Given the description of an element on the screen output the (x, y) to click on. 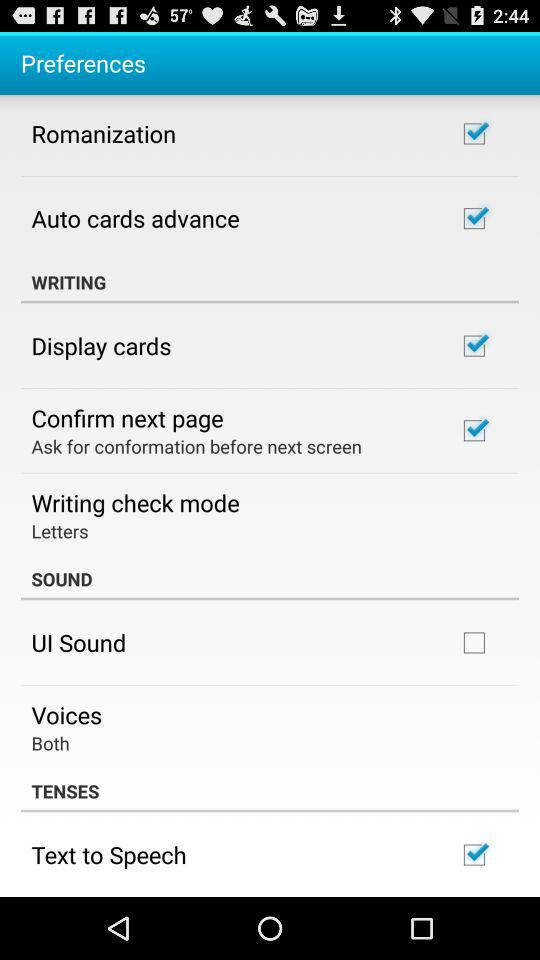
launch the icon above writing check mode icon (196, 445)
